Given the description of an element on the screen output the (x, y) to click on. 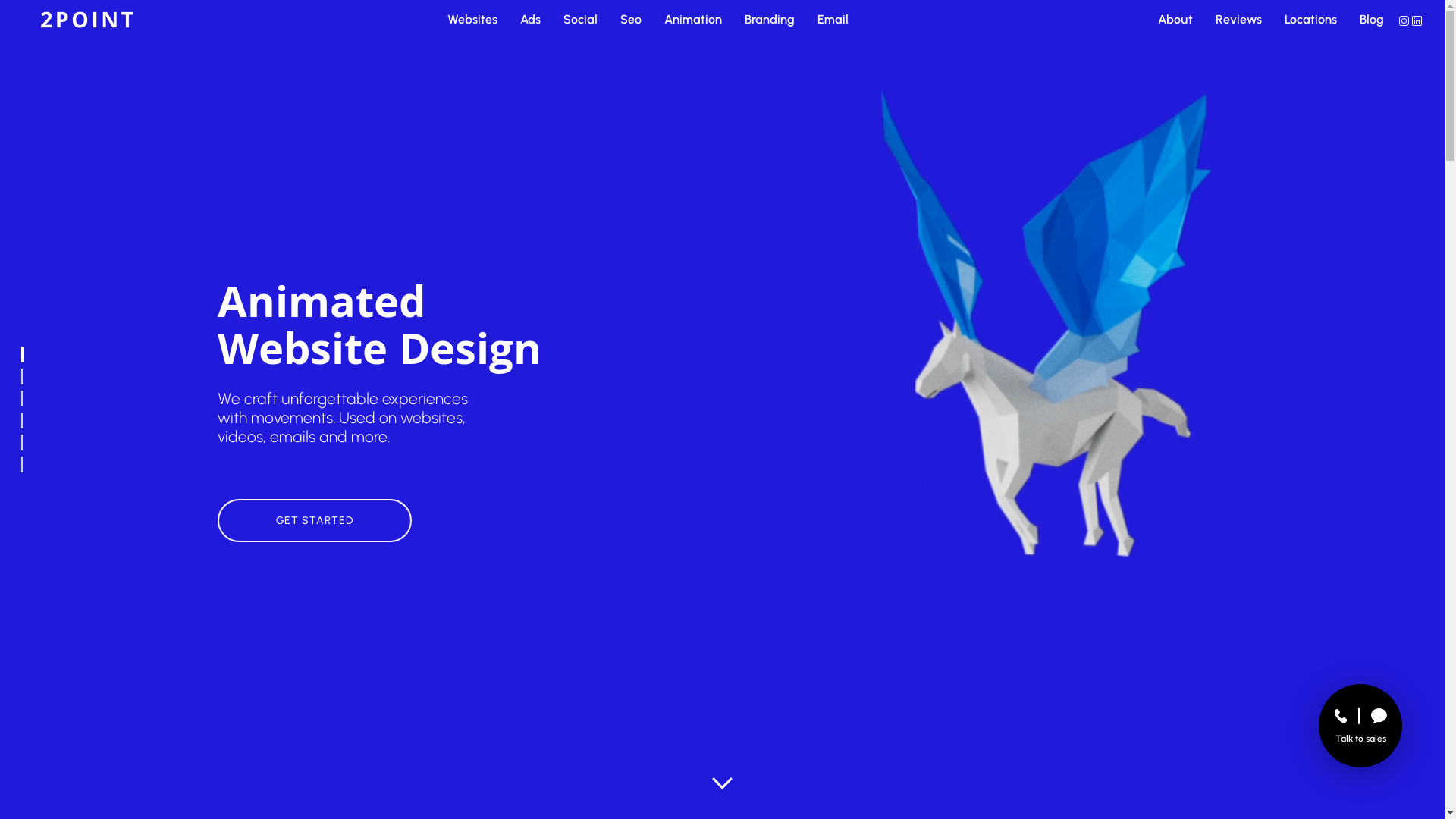
GET STARTED Element type: text (313, 520)
Social Element type: text (580, 19)
Email Element type: text (832, 19)
Animation Element type: text (692, 19)
2Point Digital Agency Linkedin Element type: hover (1416, 19)
Seo Element type: text (630, 19)
Say It with Movement Element type: hover (26, 398)
Tell Your Story Element type: hover (26, 442)
2Point Digital Agency Instagram Element type: hover (1405, 19)
Websites Element type: text (472, 19)
Locations Element type: text (1310, 19)
Tell Your Story Element type: hover (26, 464)
Interaction Element type: hover (26, 376)
Reviews Element type: text (1238, 19)
Branding Element type: text (769, 19)
2Point Digital Agency Element type: hover (87, 19)
About Element type: text (1174, 19)
Blog Element type: text (1371, 19)
Explainer Videos Element type: hover (26, 420)
Ads Element type: text (530, 19)
The animations< Element type: hover (26, 354)
